Given the description of an element on the screen output the (x, y) to click on. 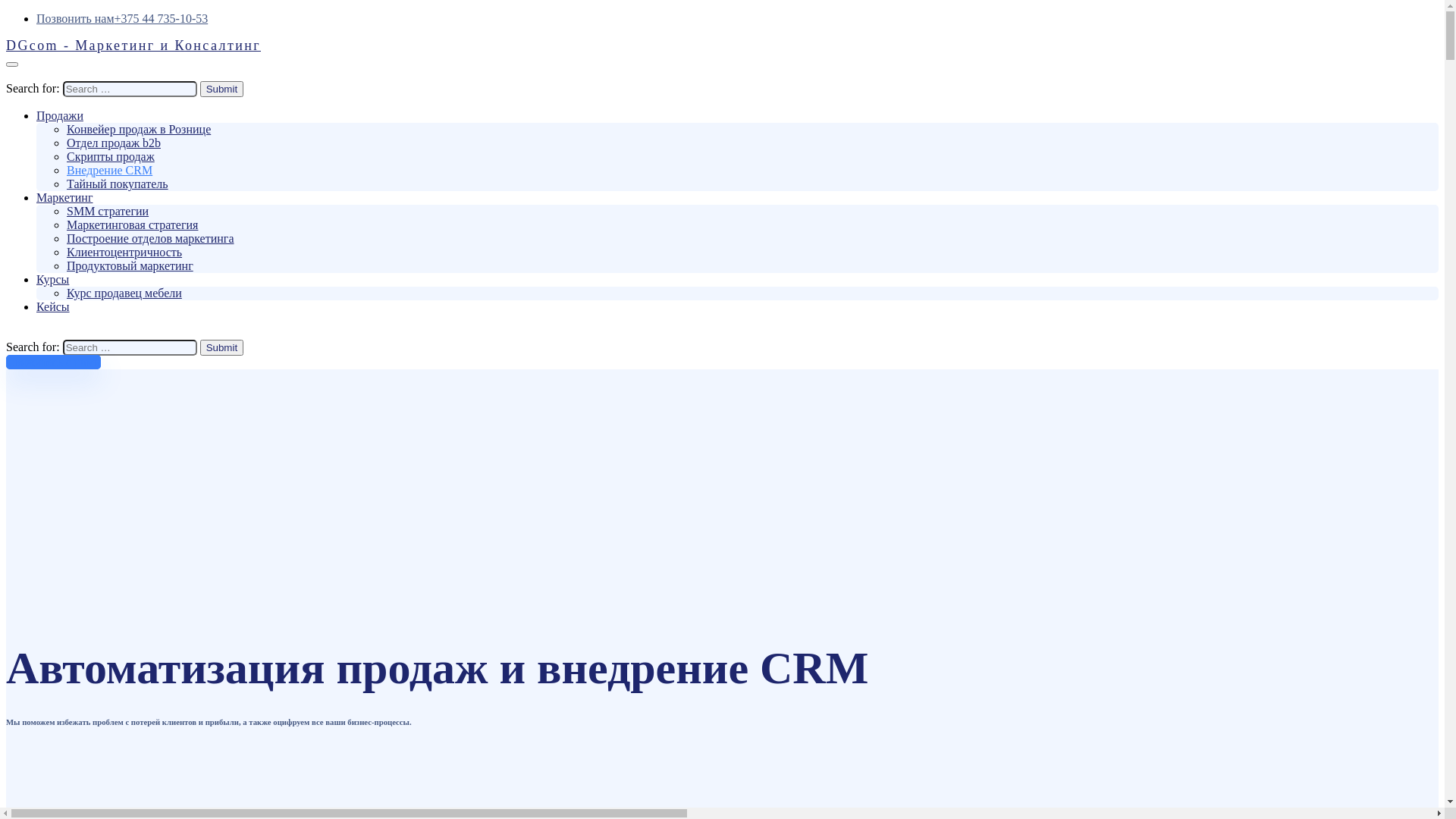
+375 44 735-10-53 Element type: text (161, 18)
